Given the description of an element on the screen output the (x, y) to click on. 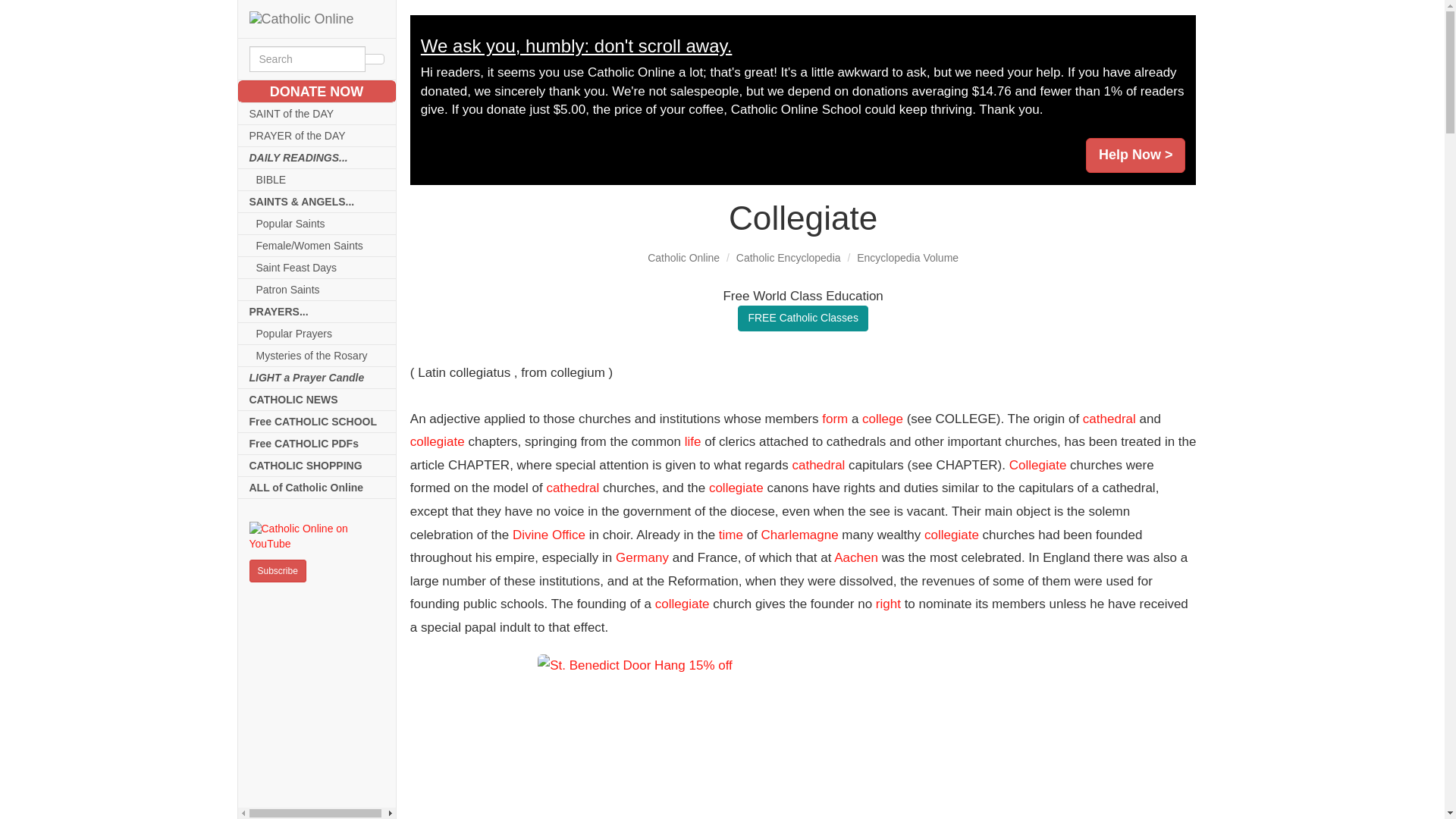
DAILY READINGS... (317, 157)
Free CATHOLIC PDFs (317, 444)
form (834, 418)
BIBLE (317, 179)
Catholic Encyclopedia (788, 257)
Saint Feast Days (317, 268)
Popular Saints (317, 223)
Popular Prayers (317, 333)
CATHOLIC SHOPPING (317, 465)
Patron Saints (317, 290)
